Given the description of an element on the screen output the (x, y) to click on. 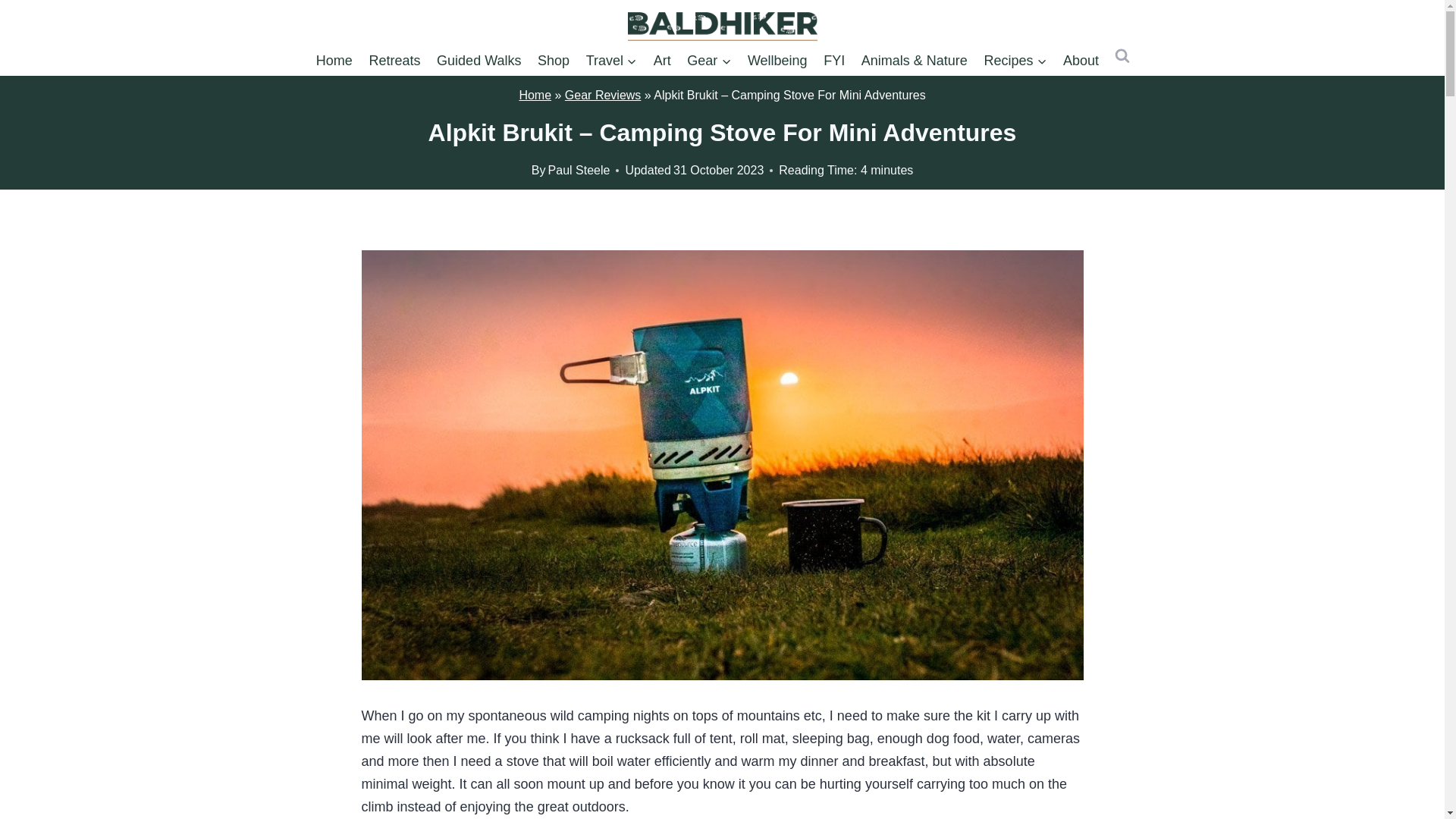
Retreats (395, 60)
Shop (553, 60)
Gear (708, 60)
About (1080, 60)
Paul Steele (579, 169)
Gear Reviews (602, 94)
Wellbeing (777, 60)
Travel (611, 60)
FYI (834, 60)
Art (662, 60)
